Given the description of an element on the screen output the (x, y) to click on. 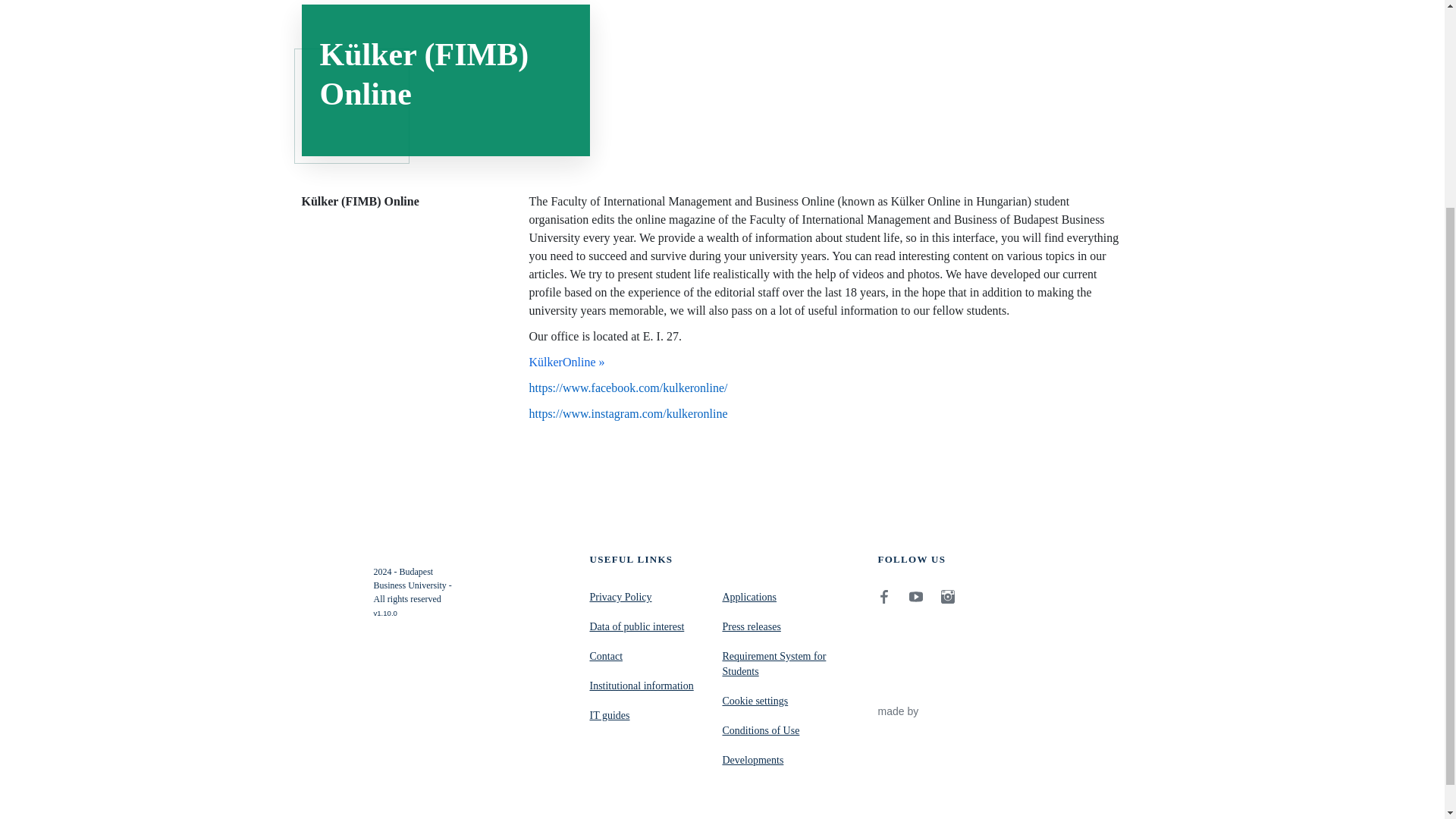
Facebook (884, 596)
Instagram (947, 596)
Youtube (915, 596)
